Given the description of an element on the screen output the (x, y) to click on. 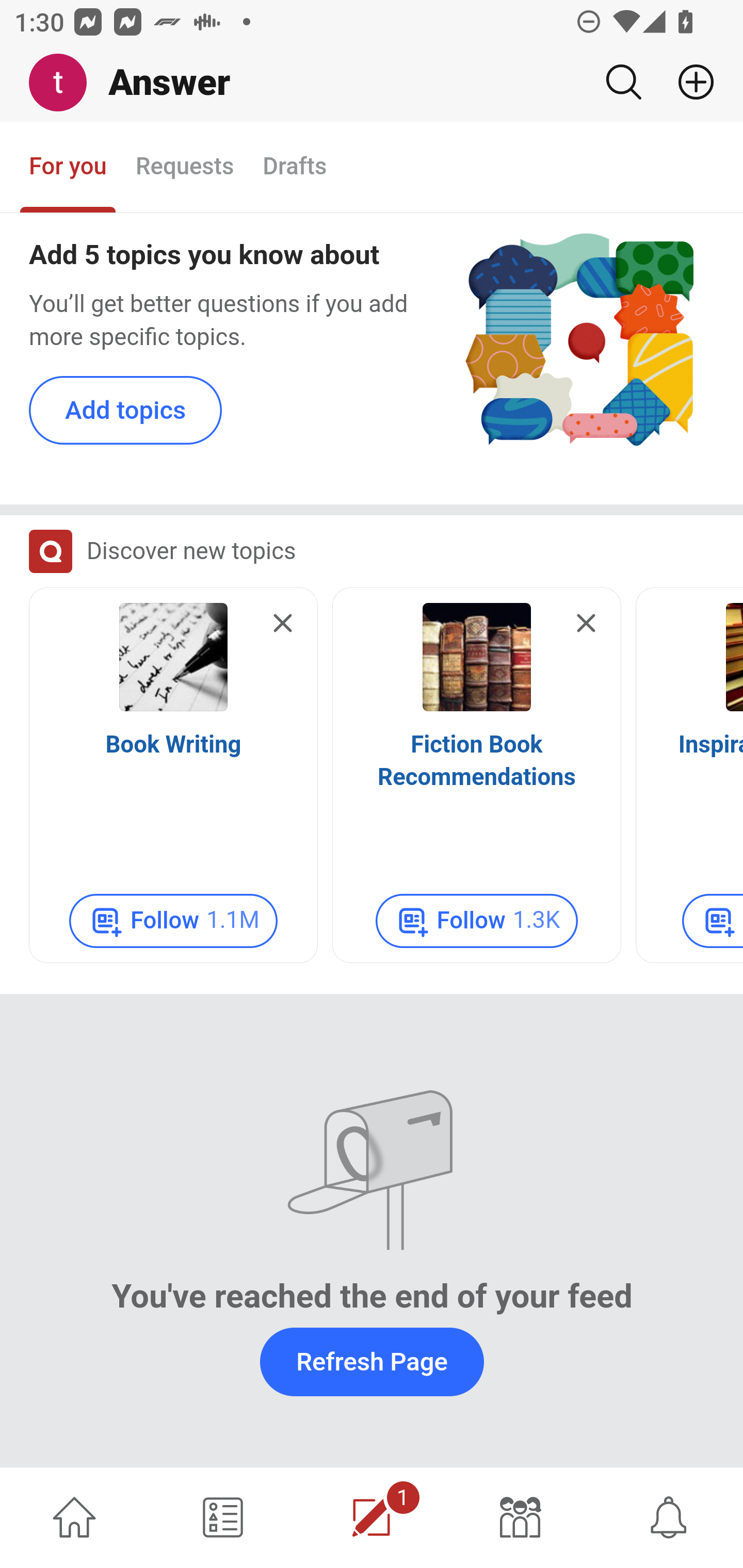
Me (64, 83)
Search (623, 82)
Add (688, 82)
For you (68, 167)
Requests (183, 167)
Drafts (295, 167)
Add topics (125, 411)
Hide this card (282, 624)
Hide this card (585, 624)
Icon for Book Writing (173, 658)
Icon for Fiction Book Recommendations (476, 658)
Book Writing (173, 746)
Fiction Book Recommendations (476, 762)
Follow 1.1M (172, 921)
Follow 1.3K (476, 921)
Refresh Page (371, 1362)
